Given the description of an element on the screen output the (x, y) to click on. 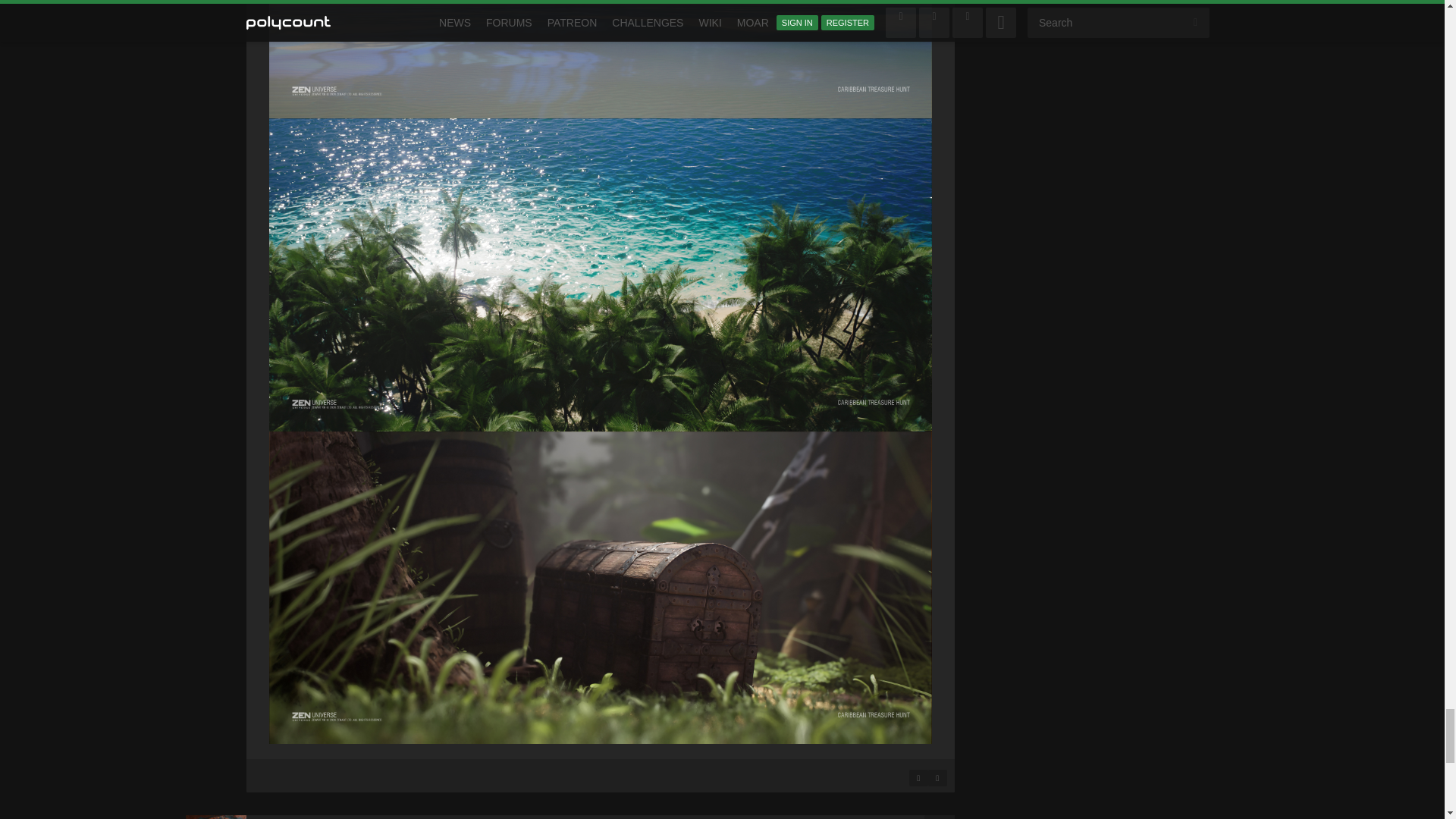
teodar23 (216, 816)
